Given the description of an element on the screen output the (x, y) to click on. 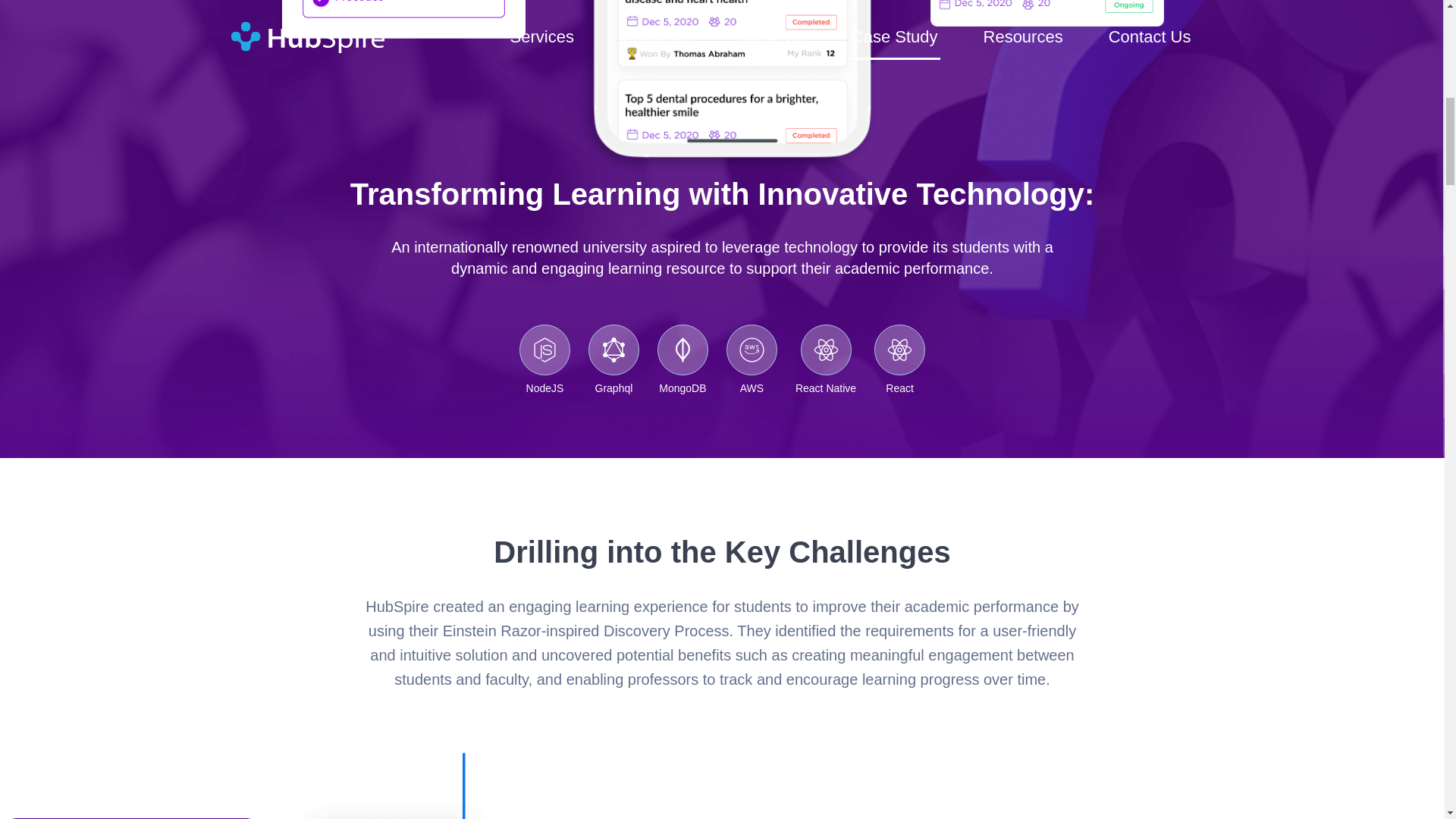
image img-fluid (1046, 13)
